Given the description of an element on the screen output the (x, y) to click on. 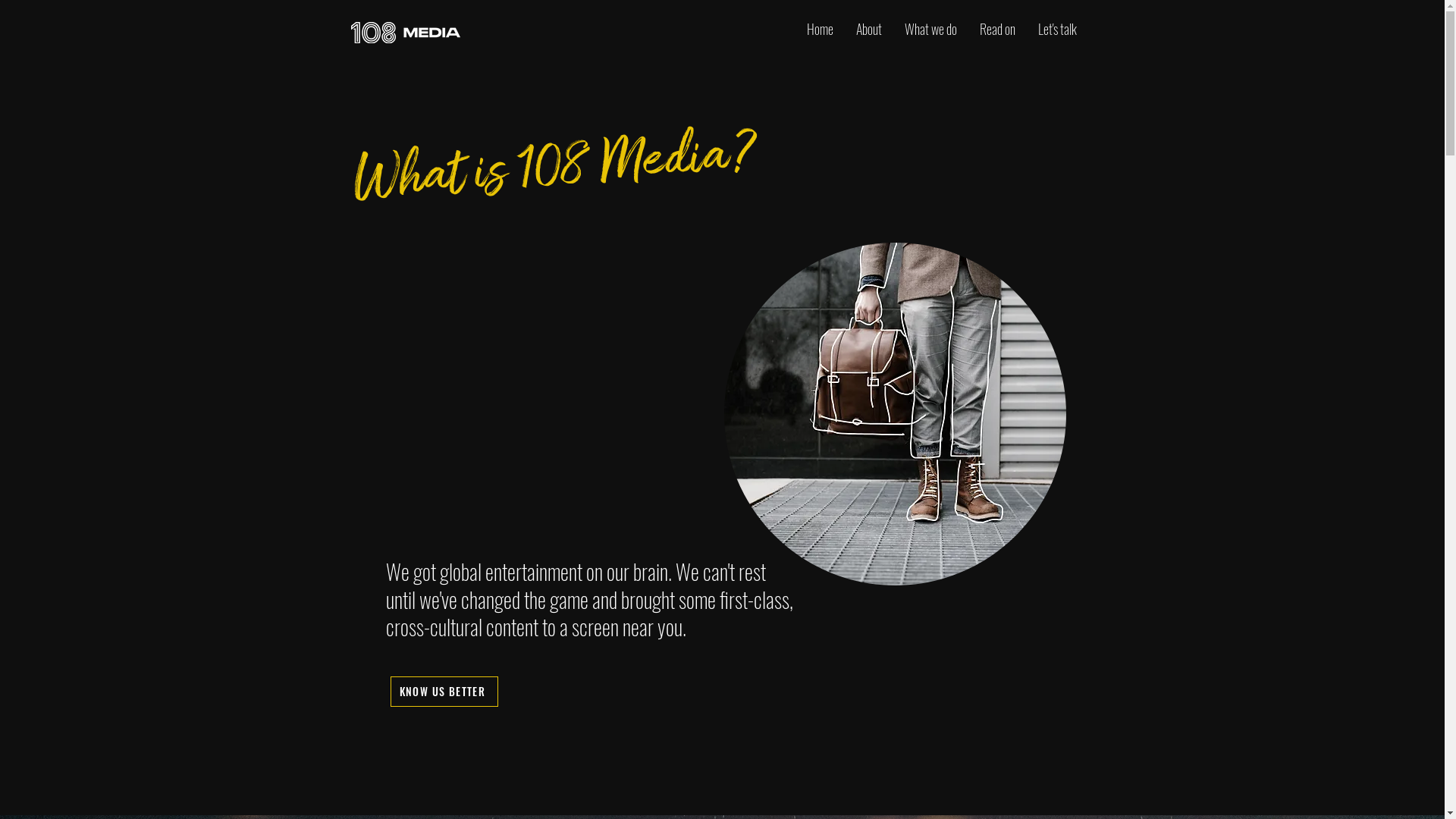
Home Element type: text (819, 28)
About Element type: text (868, 28)
KNOW US BETTER Element type: text (443, 691)
Read on Element type: text (996, 28)
Let's talk Element type: text (1057, 28)
